Given the description of an element on the screen output the (x, y) to click on. 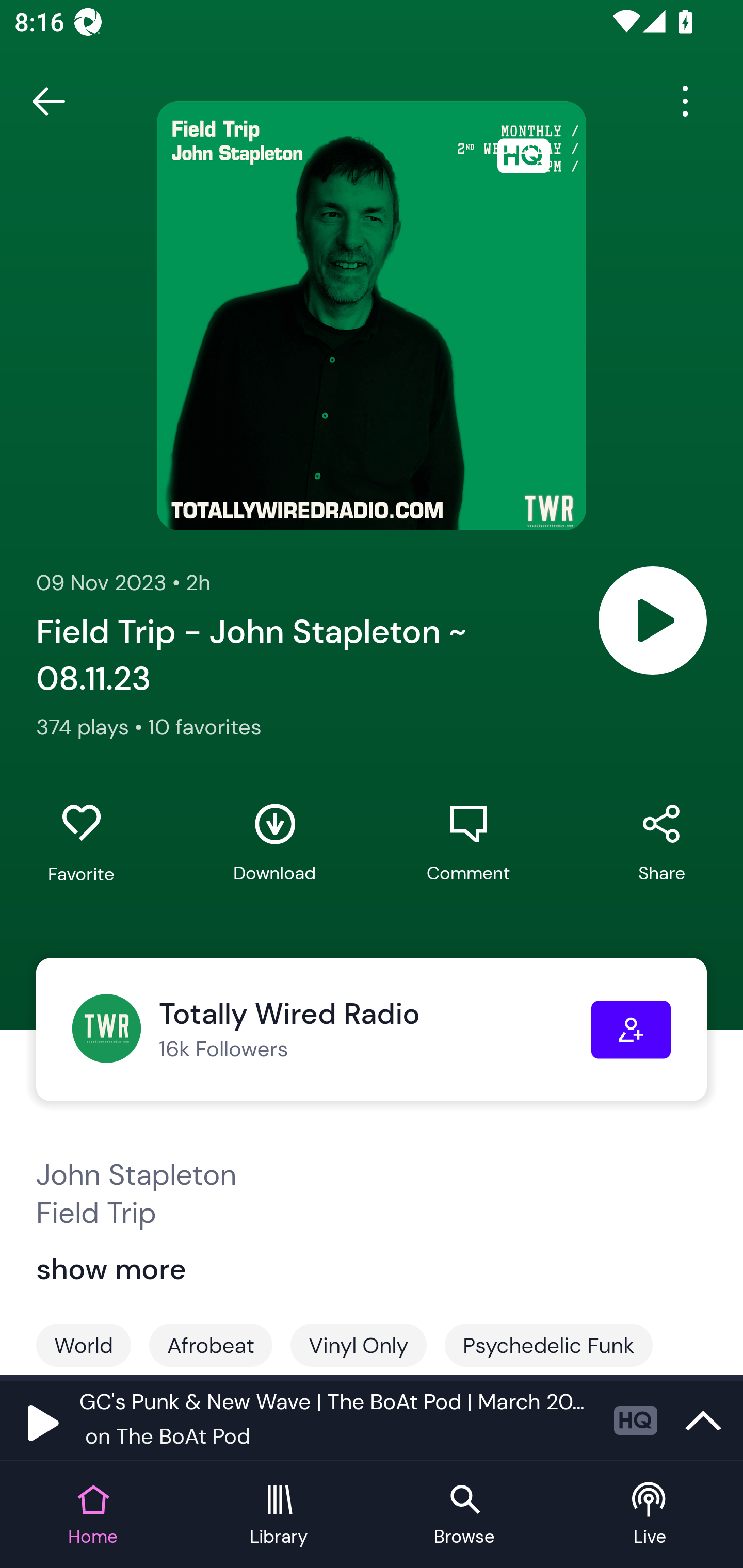
10 favorites (204, 726)
Favorite (81, 843)
Download (274, 843)
Comment (467, 843)
Share (661, 843)
Follow (630, 1029)
World (83, 1345)
Afrobeat (210, 1345)
Vinyl Only (358, 1345)
Psychedelic Funk (548, 1345)
Home tab Home (92, 1515)
Library tab Library (278, 1515)
Browse tab Browse (464, 1515)
Live tab Live (650, 1515)
